Given the description of an element on the screen output the (x, y) to click on. 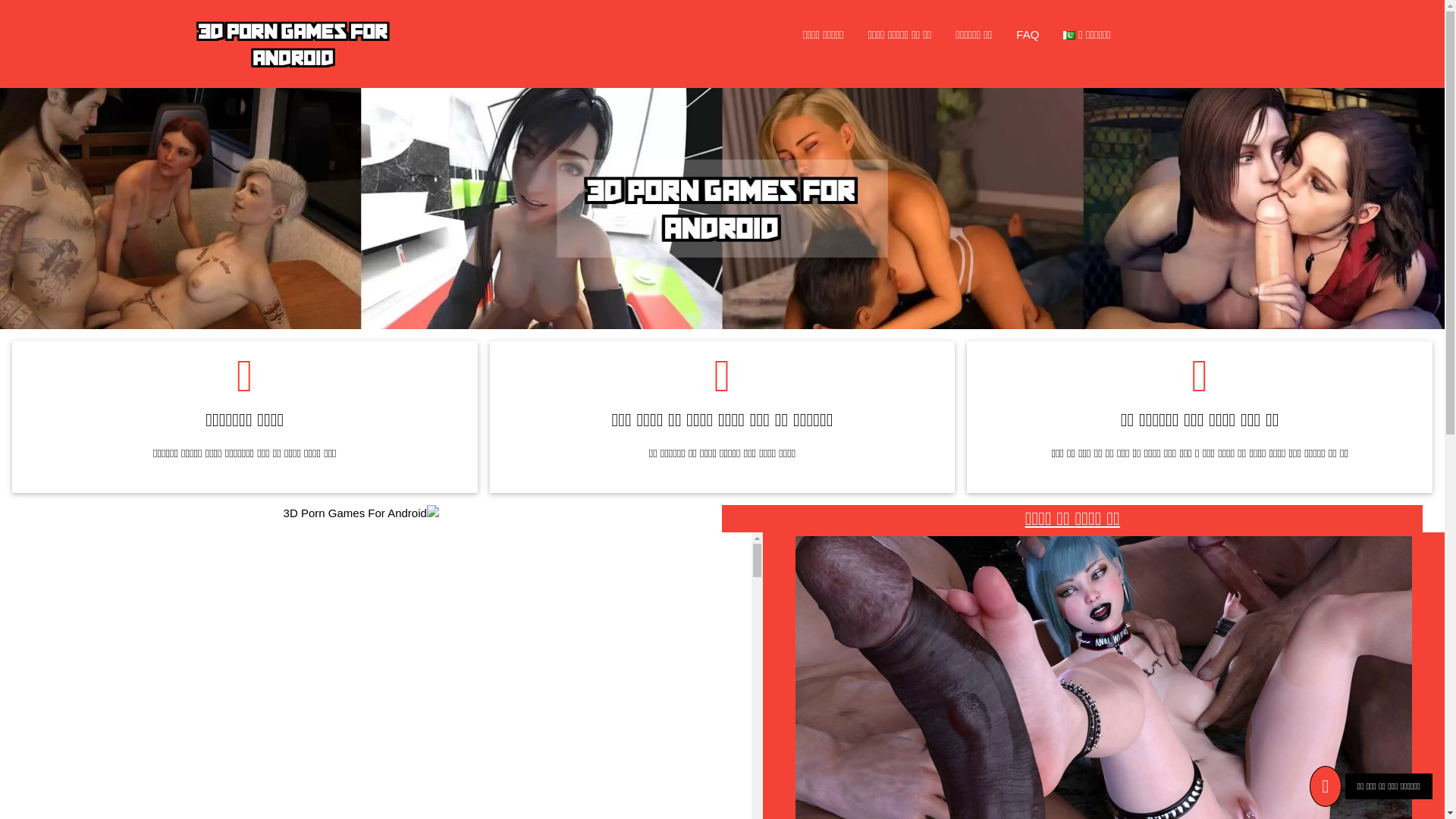
FAQ Element type: text (1027, 35)
